Given the description of an element on the screen output the (x, y) to click on. 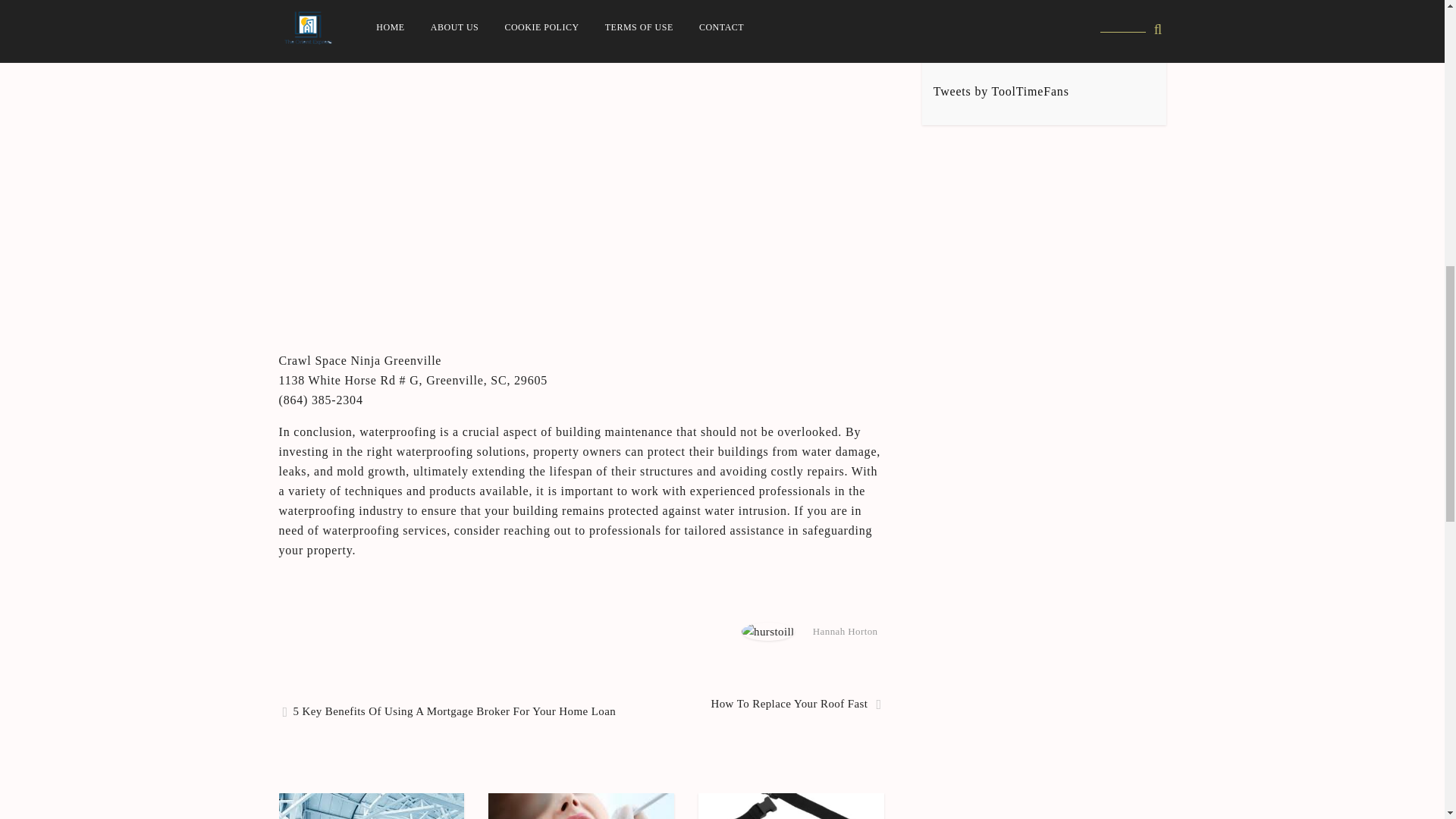
5 Key Benefits Of Using A Mortgage Broker For Your Home Loan (449, 710)
Hannah Horton (844, 631)
Posts by Hannah Horton (844, 631)
How To Replace Your Roof Fast (795, 703)
